Given the description of an element on the screen output the (x, y) to click on. 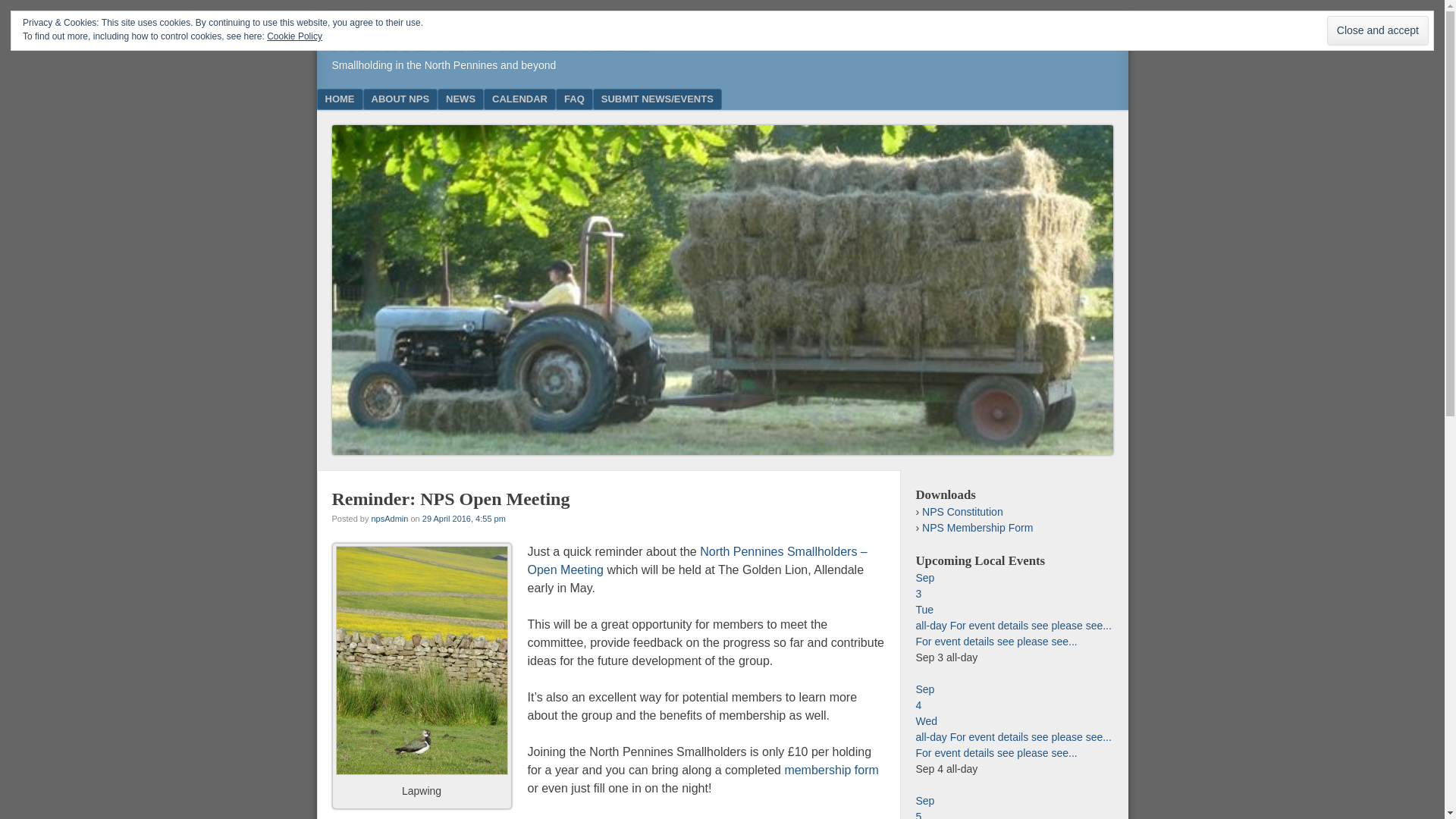
npsAdmin (389, 518)
North Pennines Smallholders (491, 44)
NPS Constitution (962, 511)
NPS Membership Form (976, 527)
NEWS (460, 98)
Constitution document (962, 511)
For event details see please see... (1014, 806)
all-day For event details see please see... (996, 752)
